Given the description of an element on the screen output the (x, y) to click on. 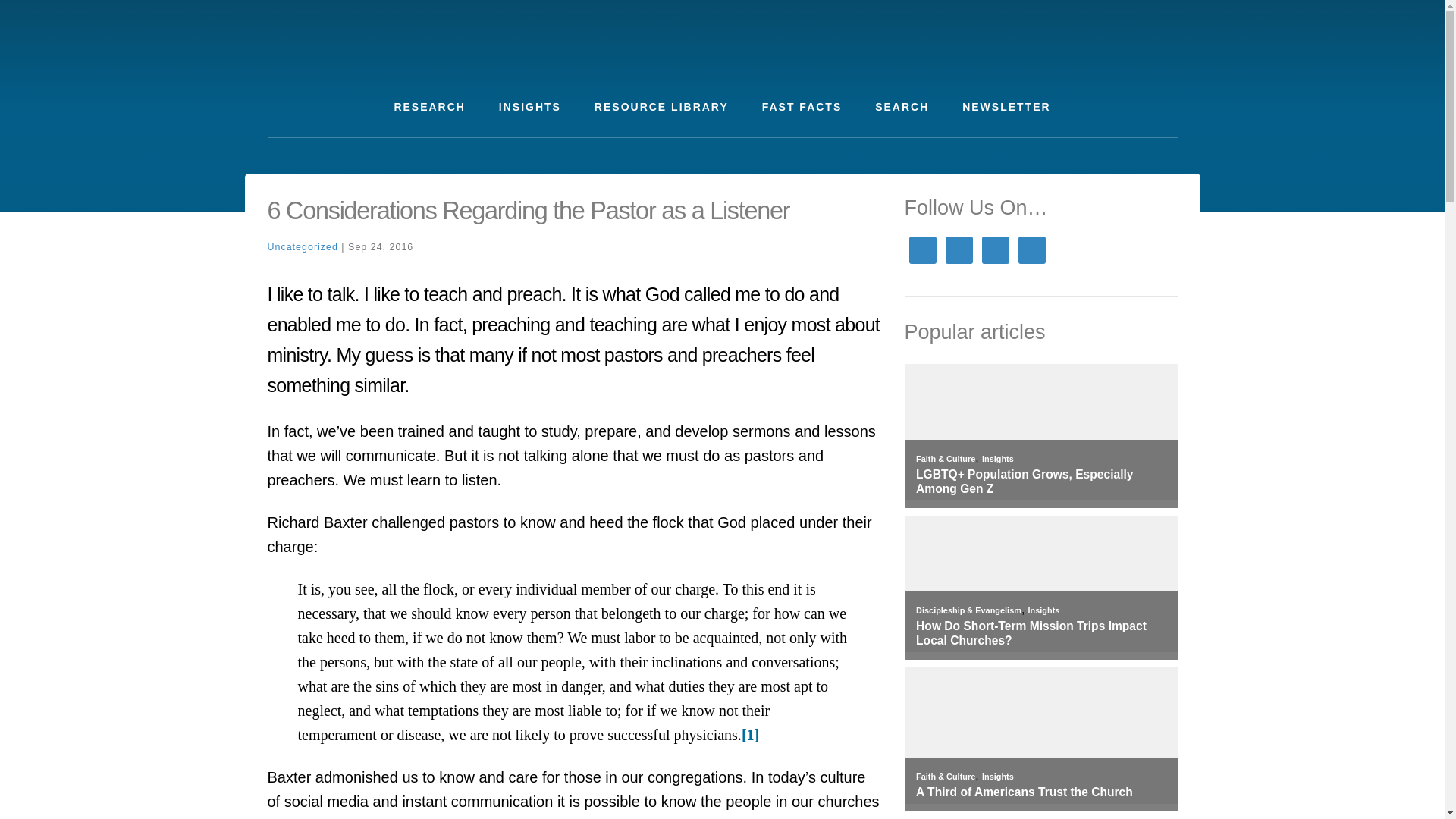
A Third of Americans Trust the Church (1040, 792)
Insights (1043, 610)
Insights (997, 776)
RESEARCH (429, 106)
INSIGHTS (529, 106)
SEARCH (901, 106)
How Do Short-Term Mission Trips Impact Local Churches? (1040, 633)
RESOURCE LIBRARY (661, 106)
Insights (997, 458)
Uncategorized (301, 247)
FAST FACTS (801, 106)
NEWSLETTER (1006, 106)
